Given the description of an element on the screen output the (x, y) to click on. 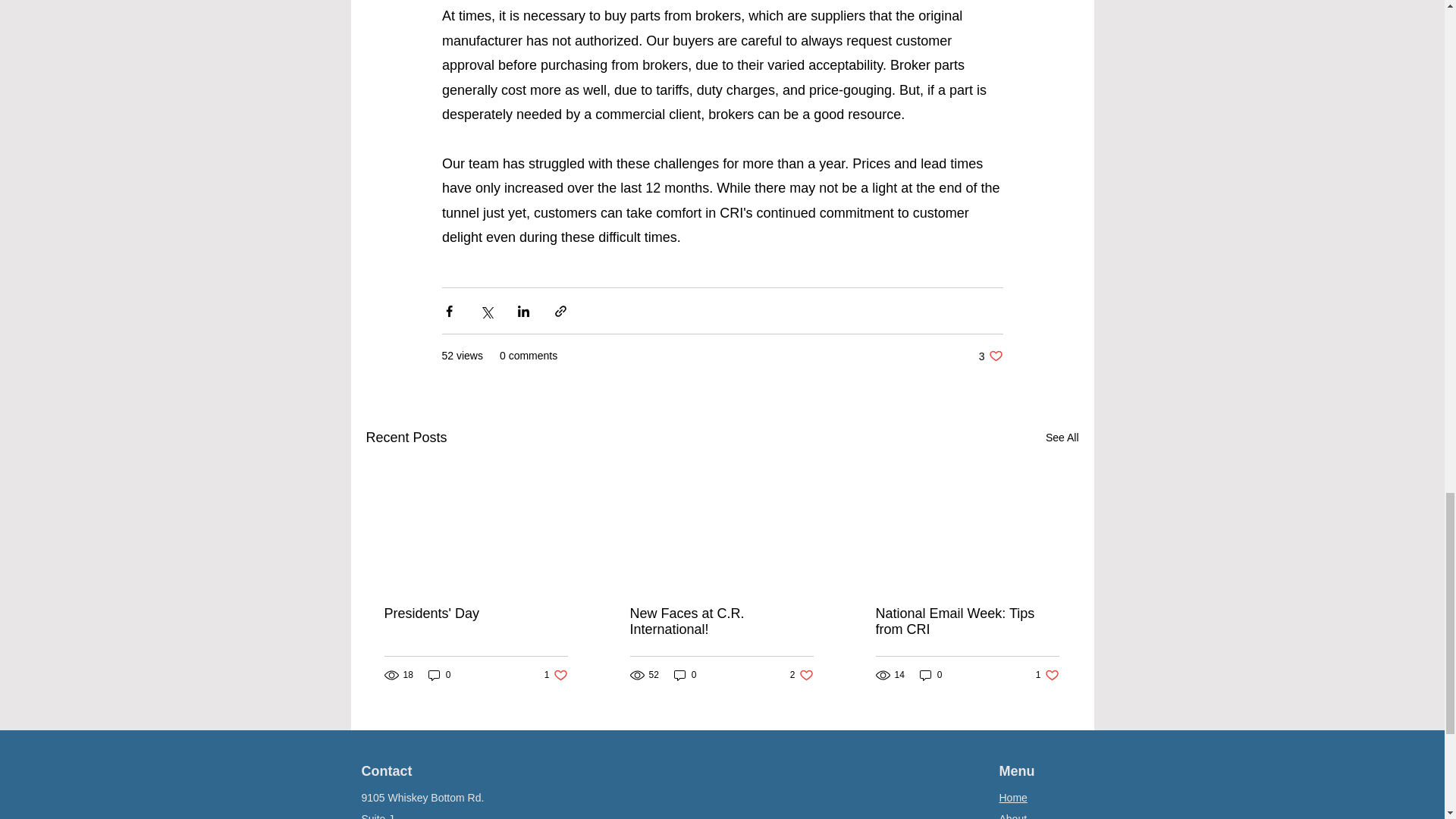
Presidents' Day (475, 613)
0 (990, 355)
Google Maps (1047, 675)
0 (685, 675)
New Faces at C.R. International! (810, 791)
National Email Week: Tips from CRI (930, 675)
Home (555, 675)
About (801, 675)
See All (720, 622)
0 (966, 622)
